Given the description of an element on the screen output the (x, y) to click on. 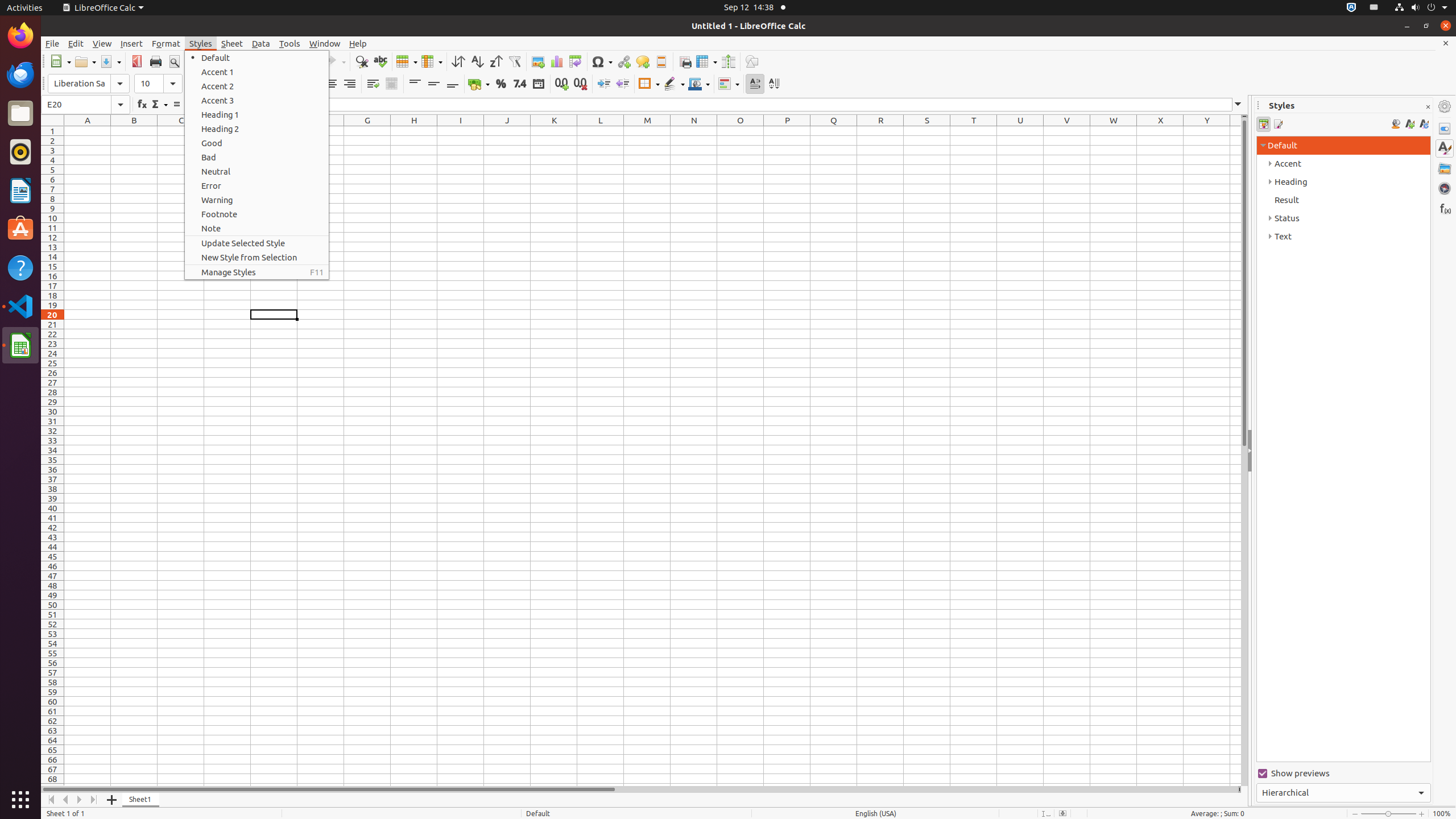
Properties Element type: radio-button (1444, 128)
Save Element type: push-button (109, 61)
Print Preview Element type: toggle-button (173, 61)
Update Style Element type: push-button (1423, 123)
Window Element type: menu (324, 43)
